Given the description of an element on the screen output the (x, y) to click on. 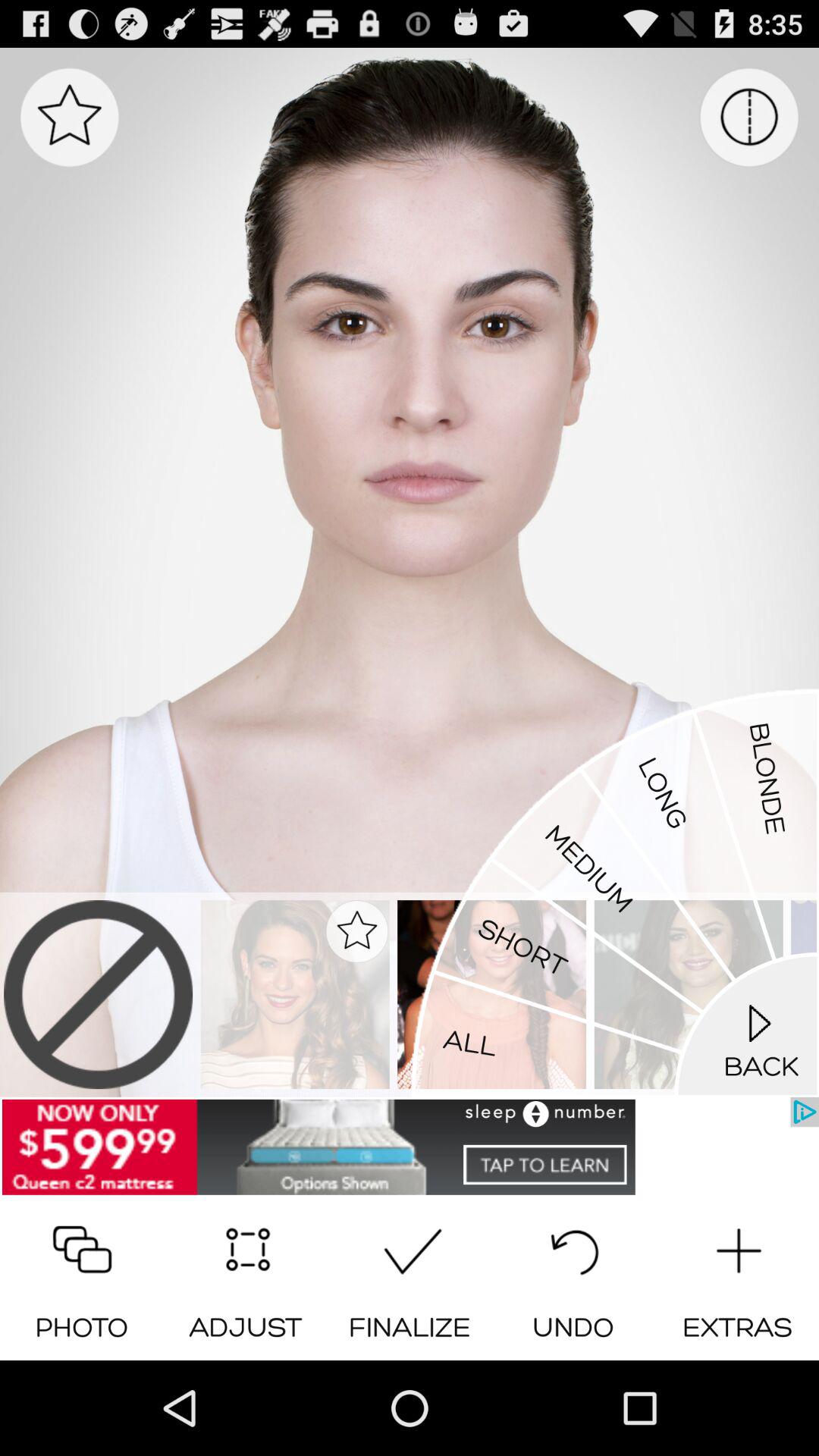
choose the icon on the left (24, 703)
